Given the description of an element on the screen output the (x, y) to click on. 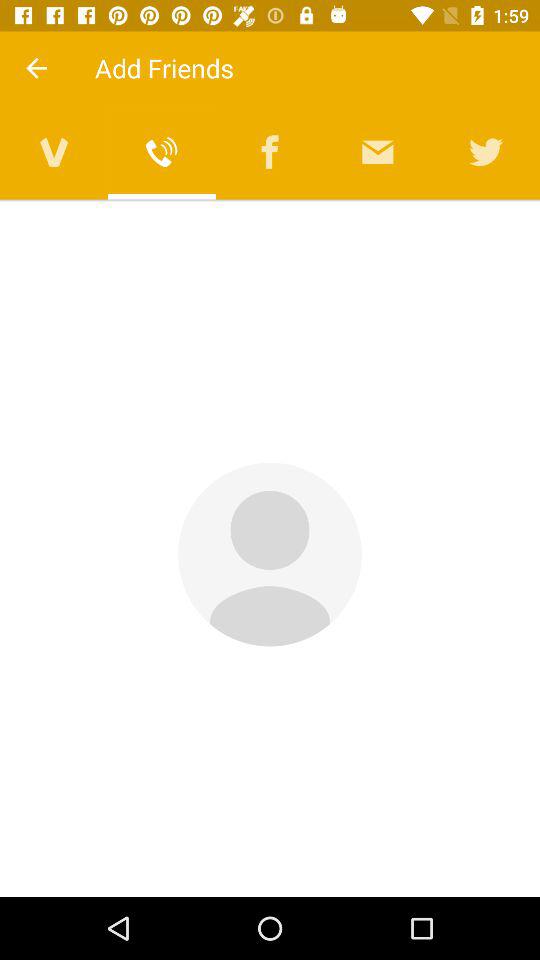
open messages (378, 152)
